Given the description of an element on the screen output the (x, y) to click on. 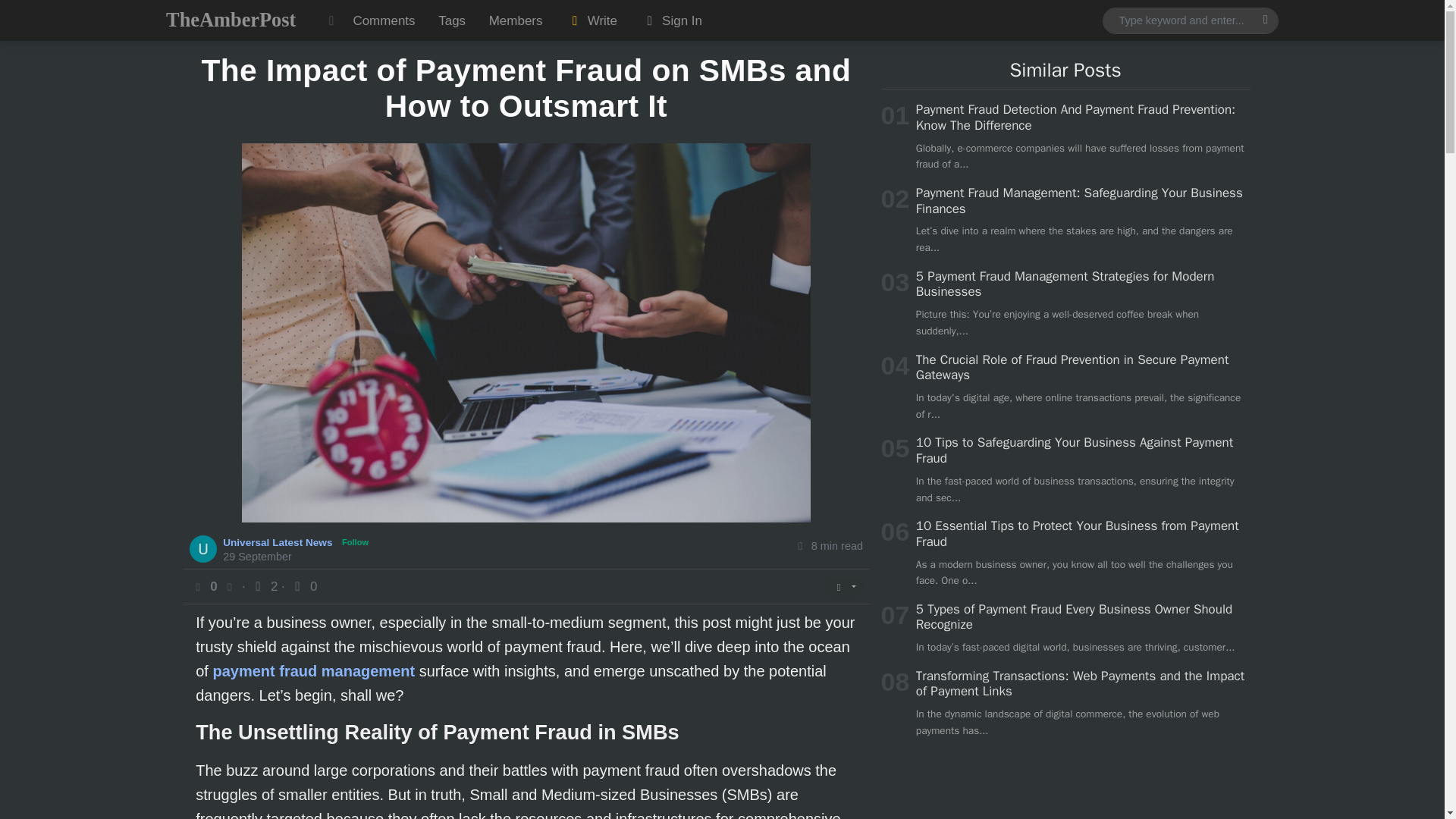
Views (264, 586)
5 Payment Fraud Management Strategies for Modern Businesses (1064, 283)
Tags (451, 20)
Universal Latest News (279, 541)
Write (591, 20)
Members (515, 20)
Sign In (670, 20)
